Given the description of an element on the screen output the (x, y) to click on. 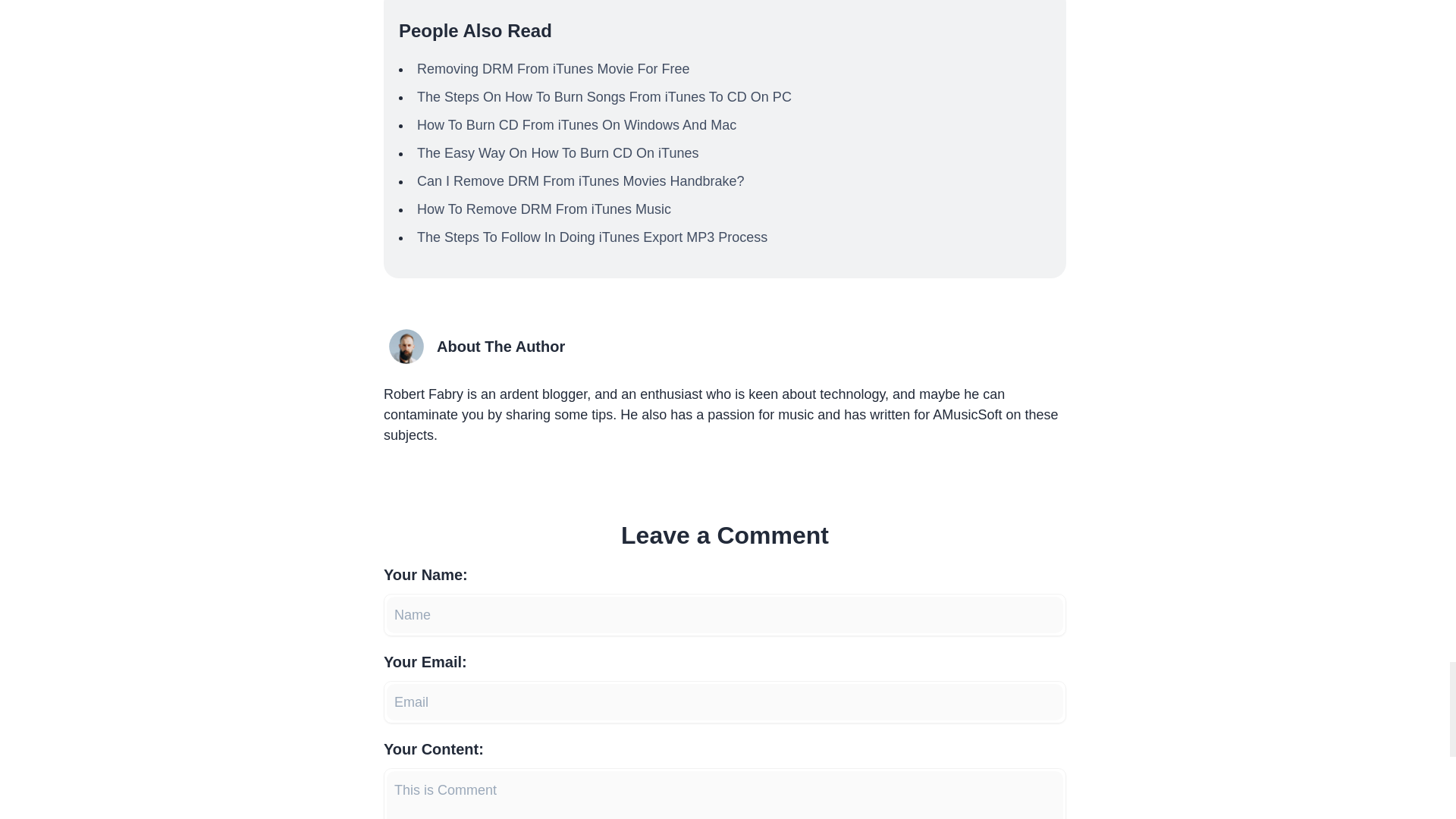
Removing DRM From iTunes Movie For Free (552, 68)
How To Burn CD From iTunes On Windows And Mac (576, 124)
Can I Remove DRM From iTunes Movies Handbrake? (580, 181)
The Steps On How To Burn Songs From iTunes To CD On PC (604, 96)
The Easy Way On How To Burn CD On iTunes (557, 152)
The Steps To Follow In Doing iTunes Export MP3 Process (591, 237)
How To Remove DRM From iTunes Music (543, 209)
